Given the description of an element on the screen output the (x, y) to click on. 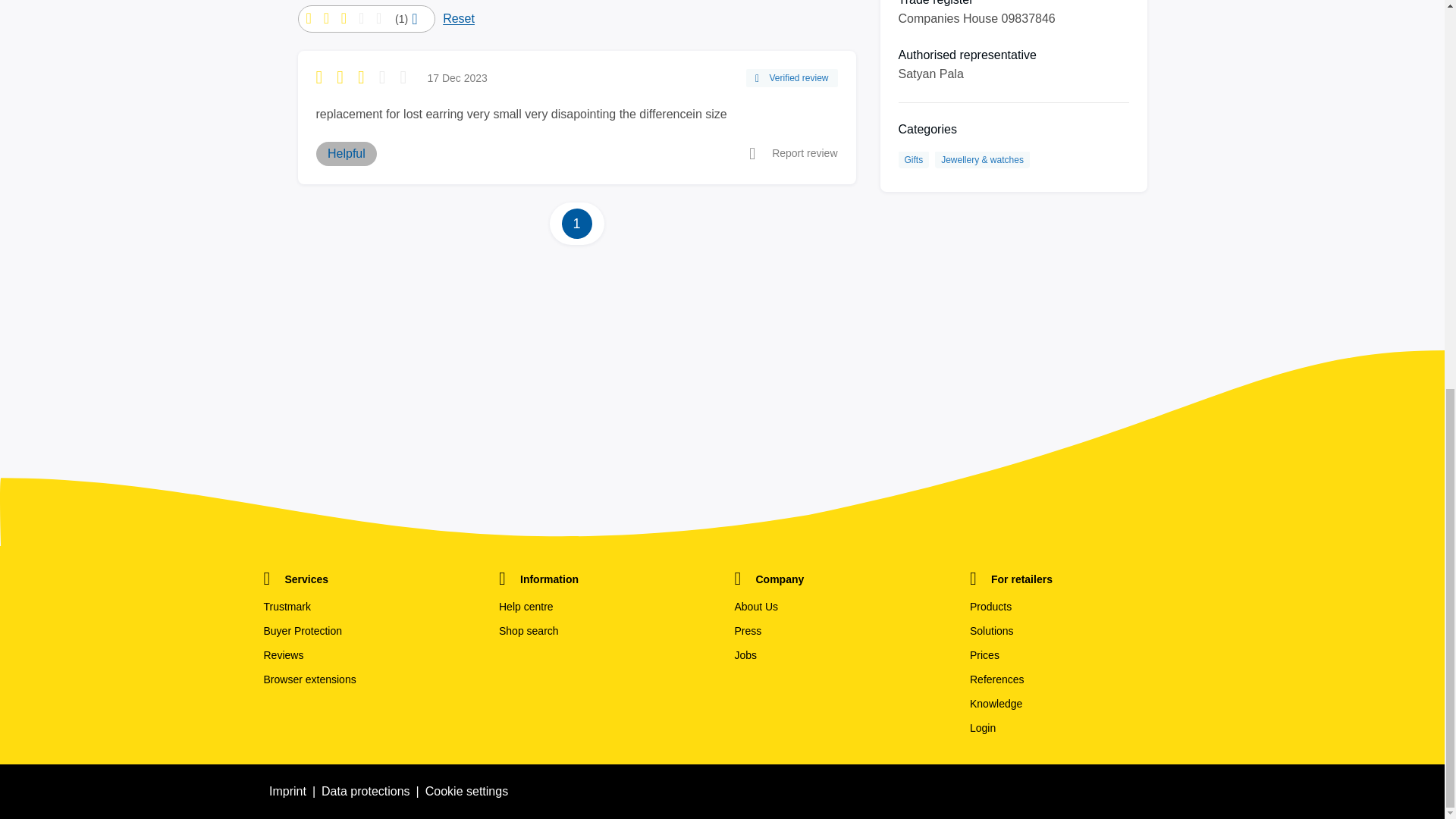
Trustmark (369, 606)
Reviews (369, 654)
Press (838, 630)
Helpful (346, 153)
Gifts (913, 158)
Help centre (604, 606)
Browser extensions (369, 679)
Reset (458, 18)
About Us (838, 606)
1 (575, 223)
